Given the description of an element on the screen output the (x, y) to click on. 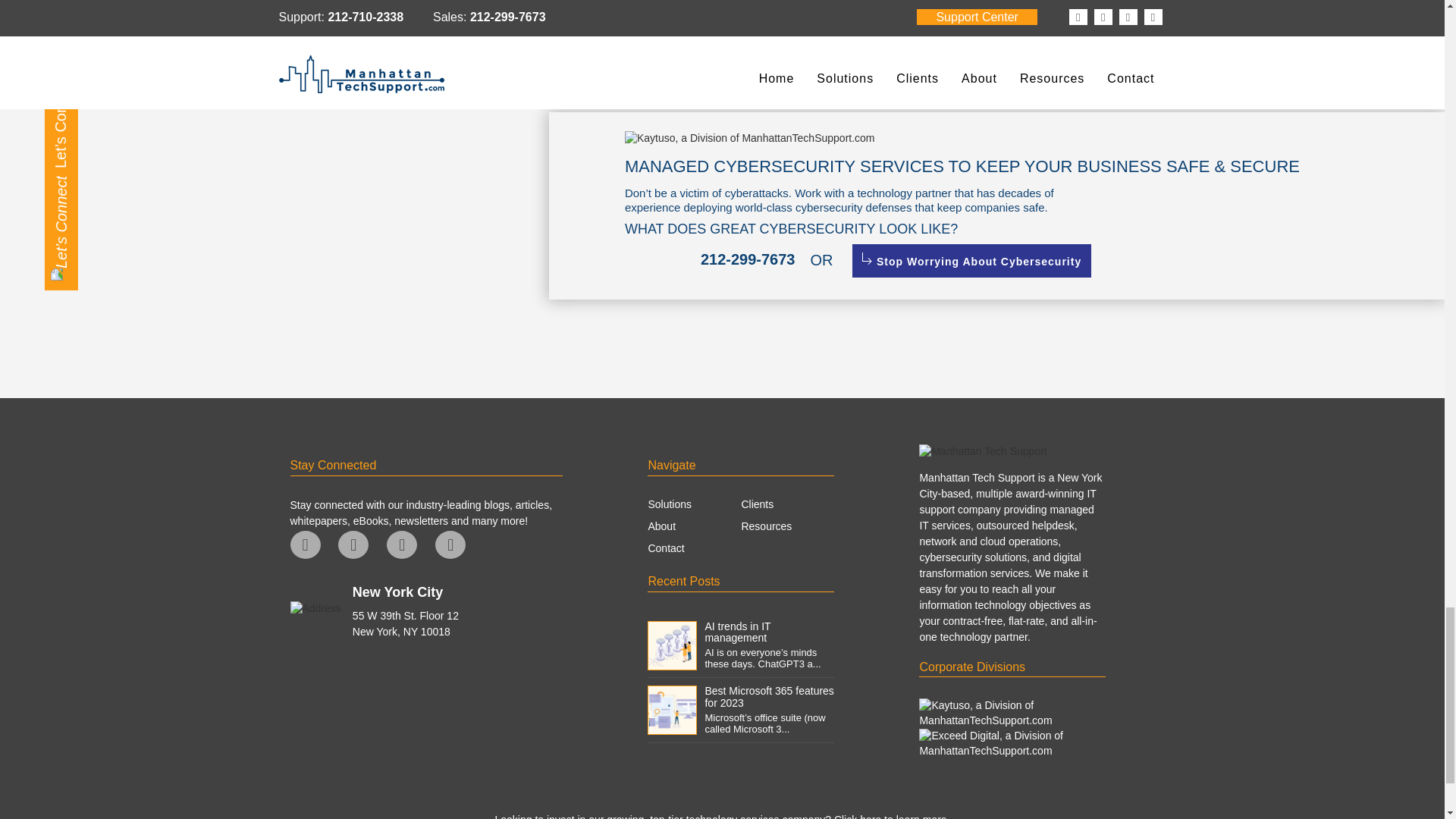
Kaytuso, a Division of ManhattanTechSupport.com (749, 143)
Kaytuso, a Division of ManhattanTechSupport.com (1011, 713)
Exceed Digital, a Division of ManhattanTechSupport.com (1011, 743)
